Given the description of an element on the screen output the (x, y) to click on. 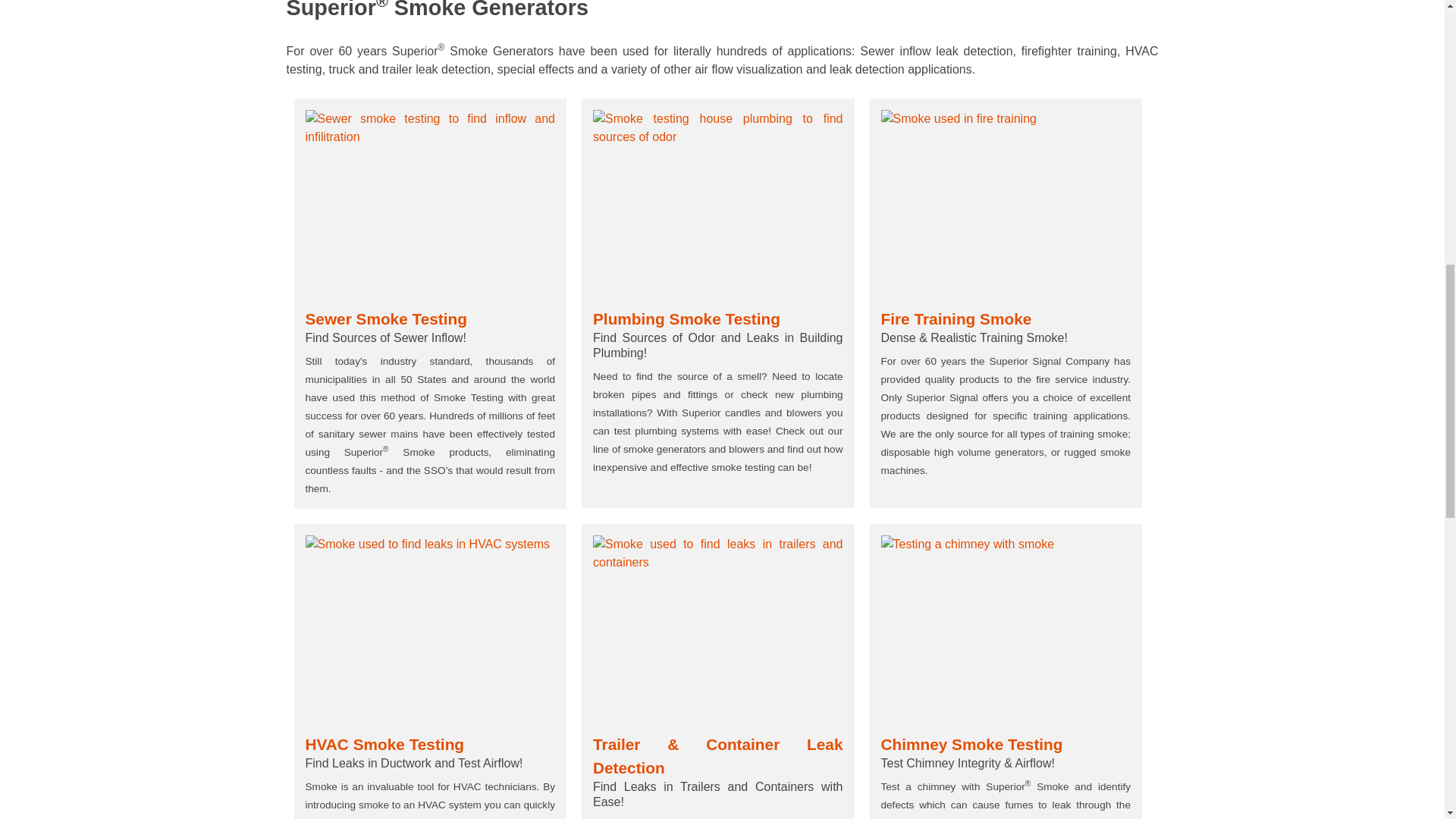
HVAC Smoke Testing (429, 629)
Mainline Sewer Smoke Testing (429, 203)
Training Smoke for Firemen (1005, 203)
Plumbing Smoke Testing (717, 203)
Smoke for Trailer and Container Leak Detection (717, 629)
Chimney Smoke Testing (1005, 629)
